Given the description of an element on the screen output the (x, y) to click on. 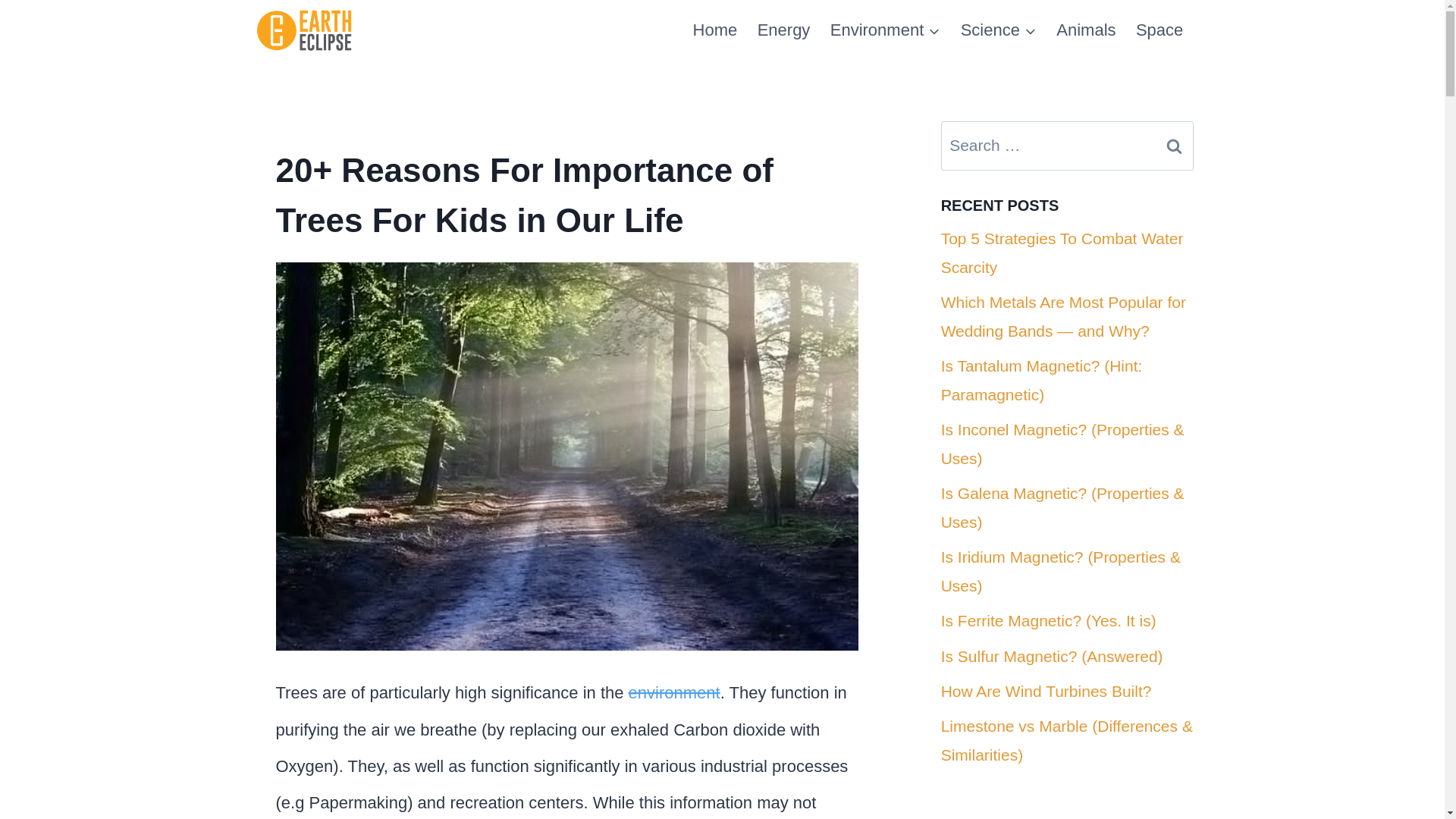
Space (1159, 30)
Environment (885, 30)
Search (1174, 145)
Home (714, 30)
Animals (1085, 30)
Search (1174, 145)
environment (674, 692)
Science (998, 30)
Energy (782, 30)
